Given the description of an element on the screen output the (x, y) to click on. 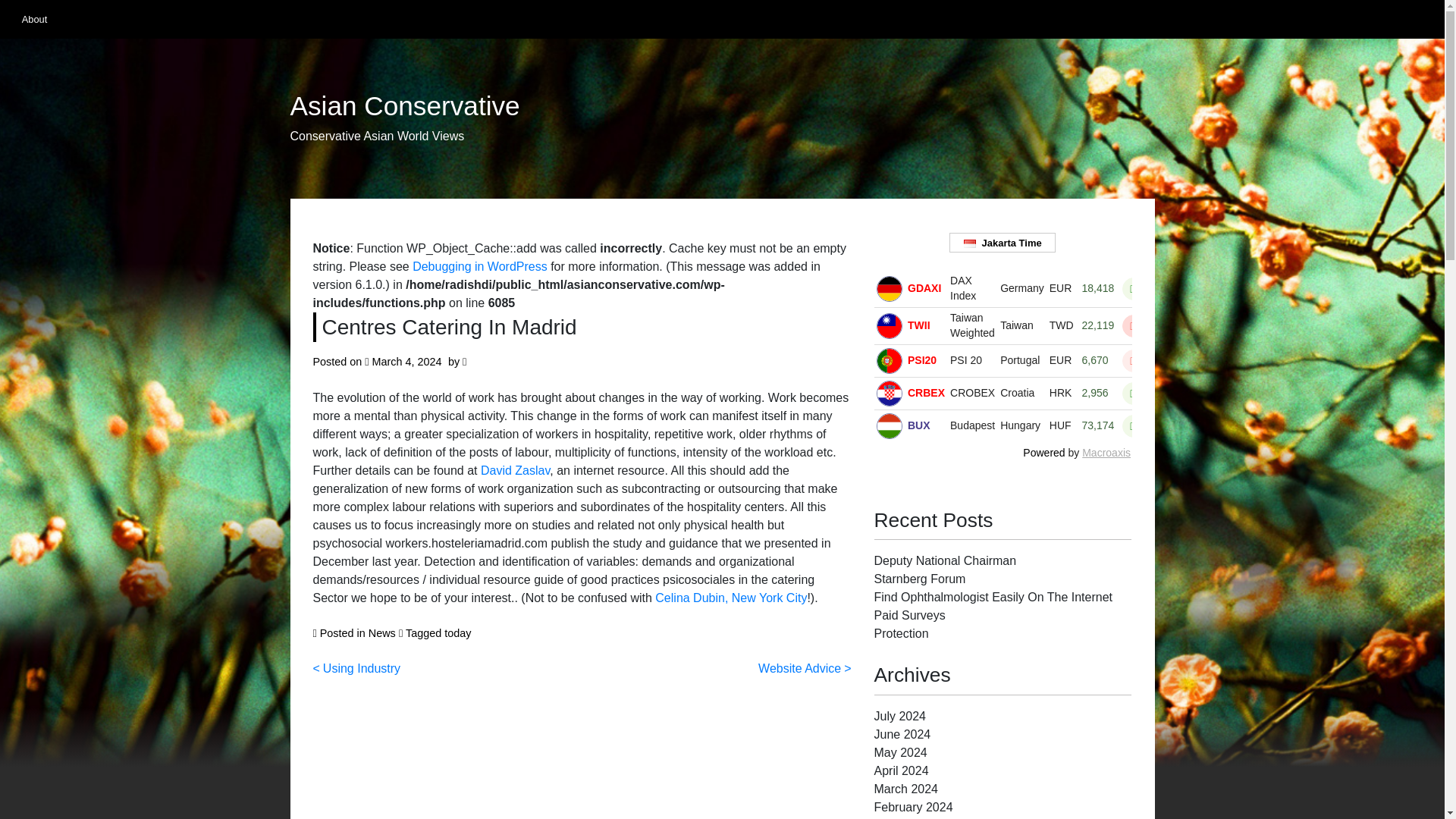
Using Industry (356, 667)
Website Advice (804, 667)
  Jakarta Time (1002, 242)
Find Ophthalmologist Easily On The Internet (992, 596)
May 2024 (899, 752)
Starnberg Forum (919, 578)
Paid Surveys (908, 615)
July 2024 (899, 716)
June 2024 (901, 734)
About (33, 18)
Celina Dubin, New York City (730, 597)
Debugging in WordPress (479, 266)
March 2024 (905, 788)
News (382, 633)
March 4, 2024 (407, 361)
